Given the description of an element on the screen output the (x, y) to click on. 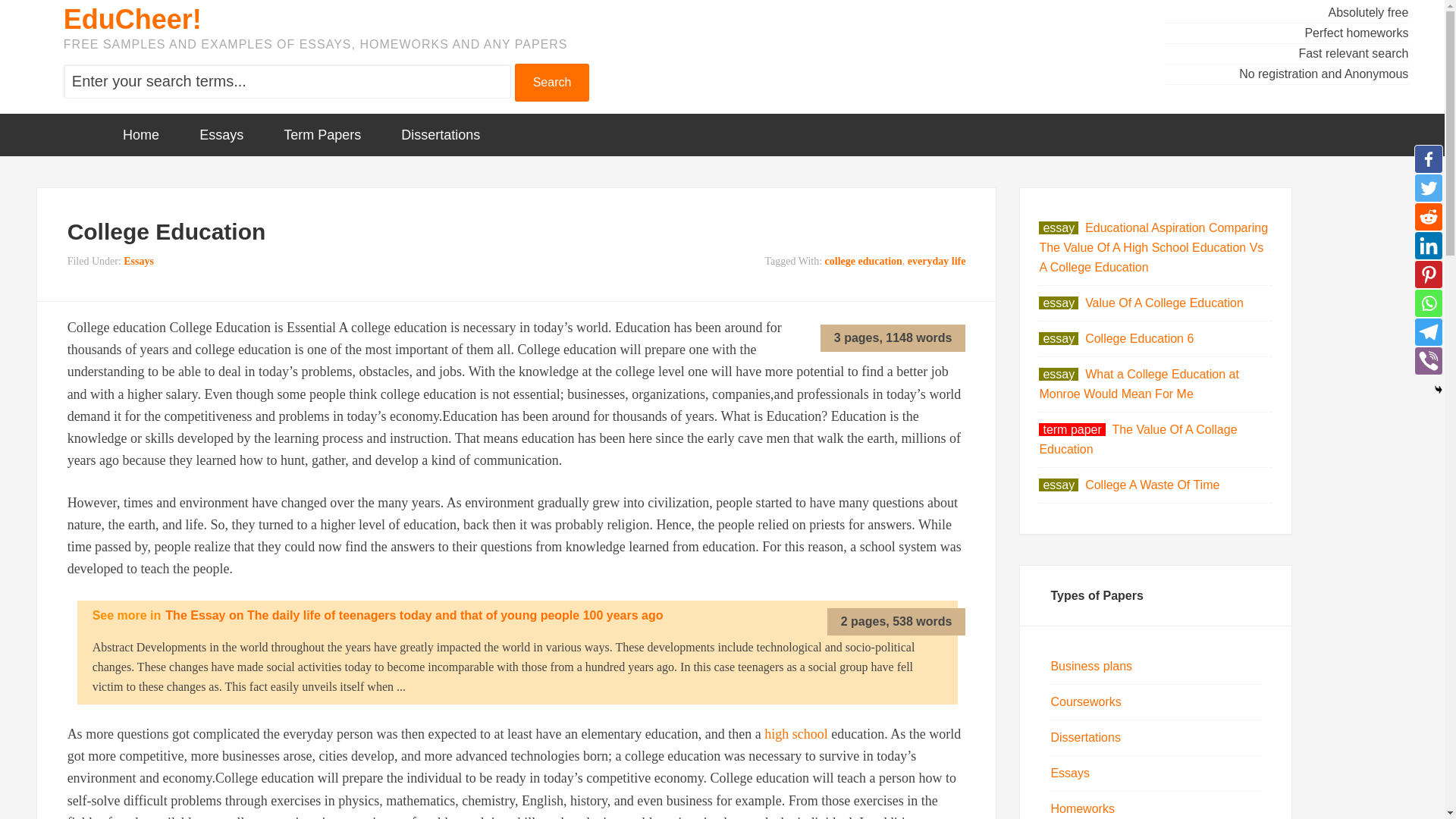
Business plans (1090, 666)
EduCheer! (133, 19)
Whatsapp (1427, 303)
Dissertations (439, 134)
Enter your search terms... (287, 81)
Essays (1069, 772)
Reddit (1427, 216)
high school (796, 734)
term paper  The Value Of A Collage Education (1137, 439)
